Given the description of an element on the screen output the (x, y) to click on. 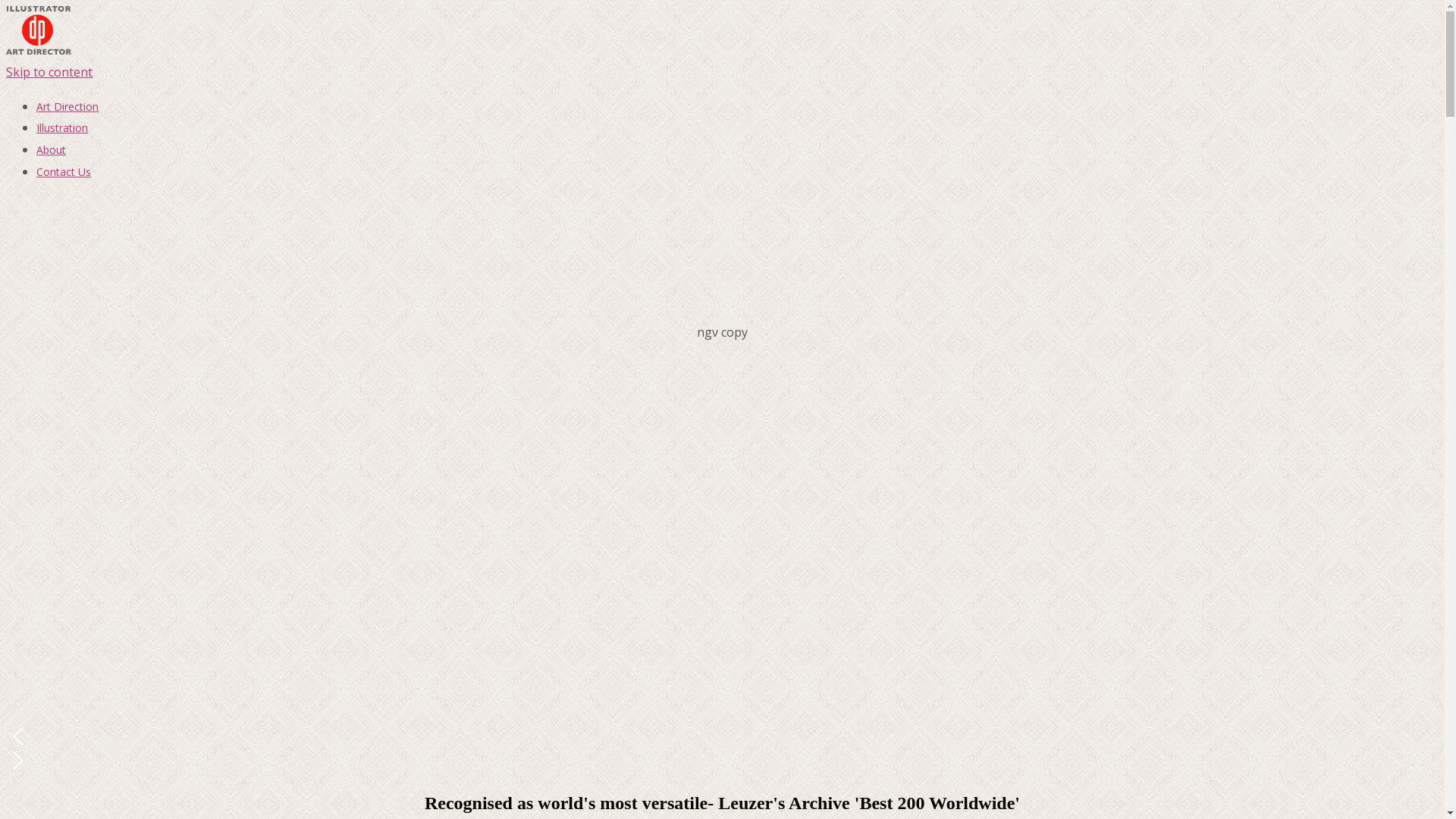
Skip to content Element type: text (49, 71)
About Element type: text (50, 149)
Art Direction Element type: text (67, 106)
Contact Us Element type: text (63, 171)
Illustration Element type: text (61, 127)
  Element type: hover (38, 49)
